Given the description of an element on the screen output the (x, y) to click on. 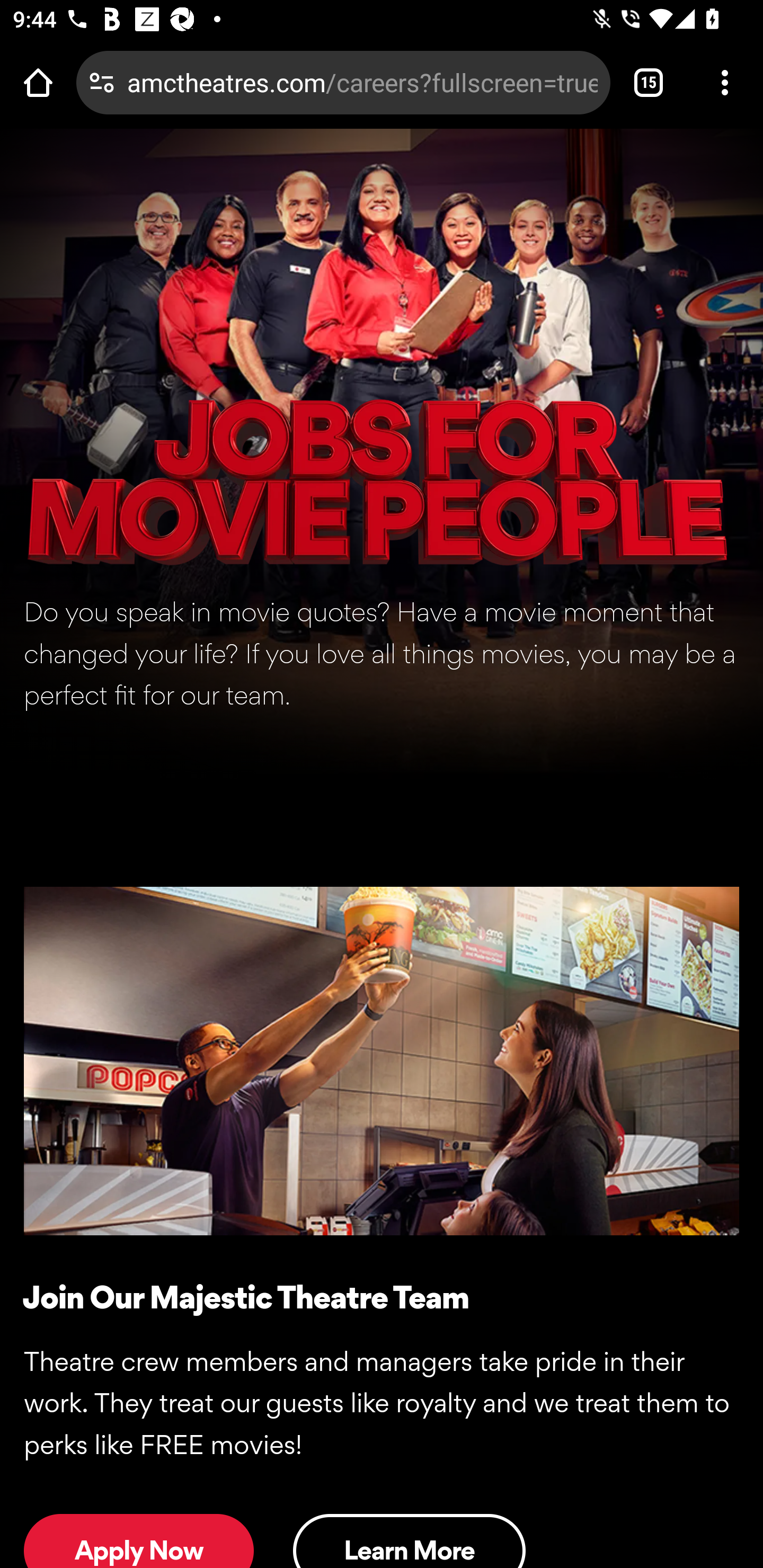
Open the home page (38, 82)
Connection is secure (101, 82)
Switch or close tabs (648, 82)
Customize and control Google Chrome (724, 82)
Apply Now (138, 1540)
Learn More (409, 1540)
